Given the description of an element on the screen output the (x, y) to click on. 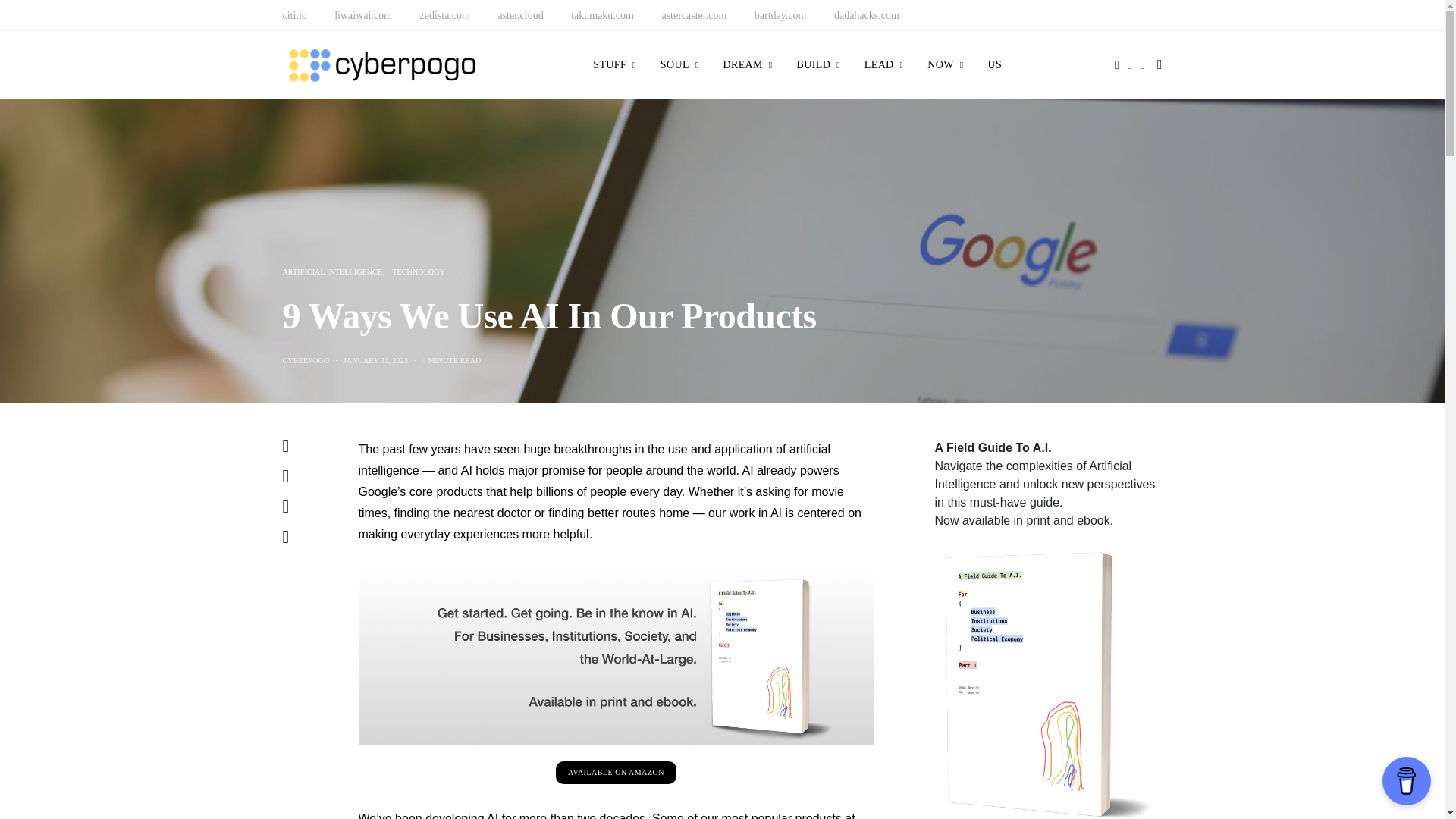
View all posts by Cyberpogo (305, 360)
